Given the description of an element on the screen output the (x, y) to click on. 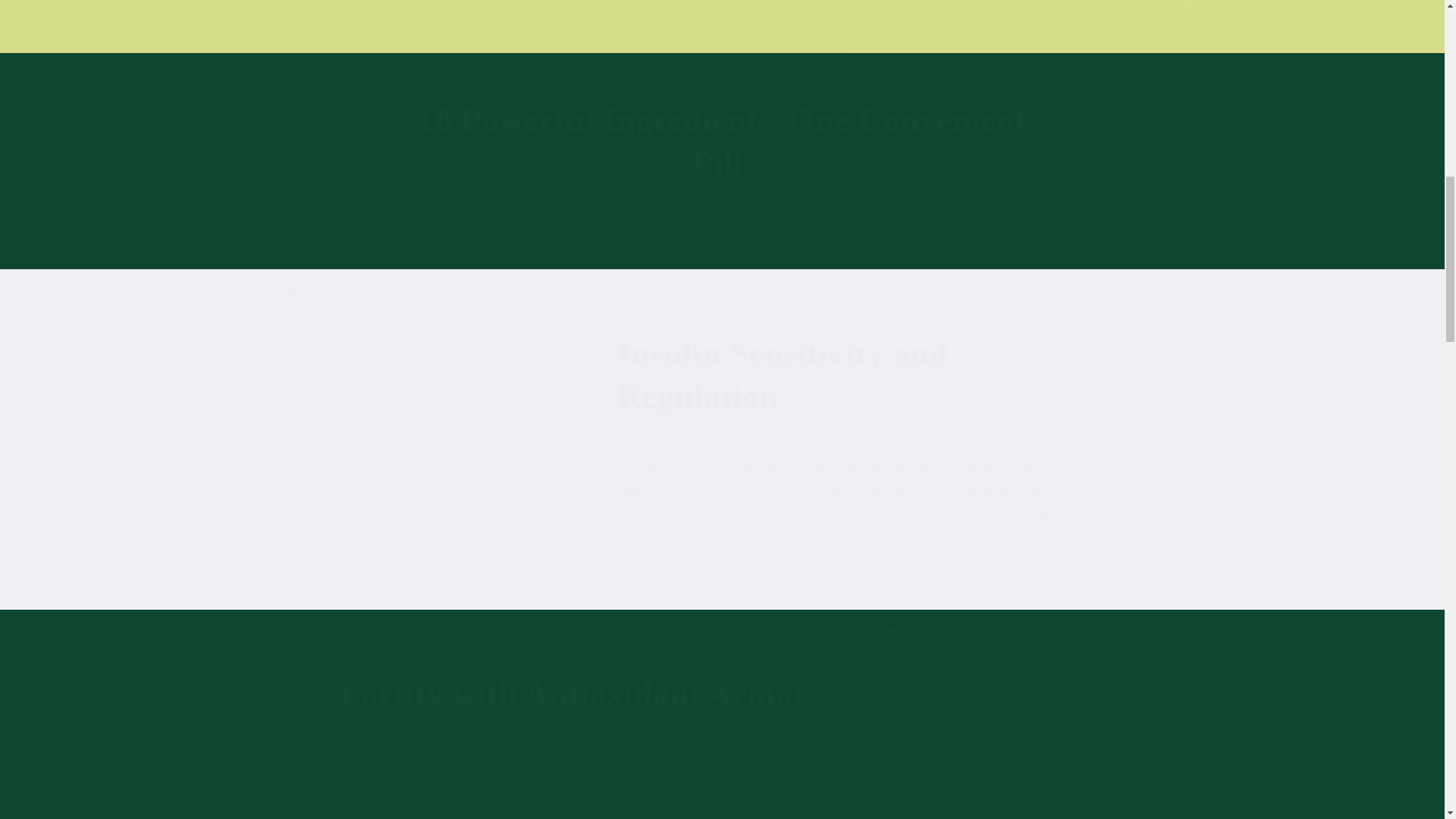
18 Powerful Ingredients, One Convenient Pill. (722, 142)
